Given the description of an element on the screen output the (x, y) to click on. 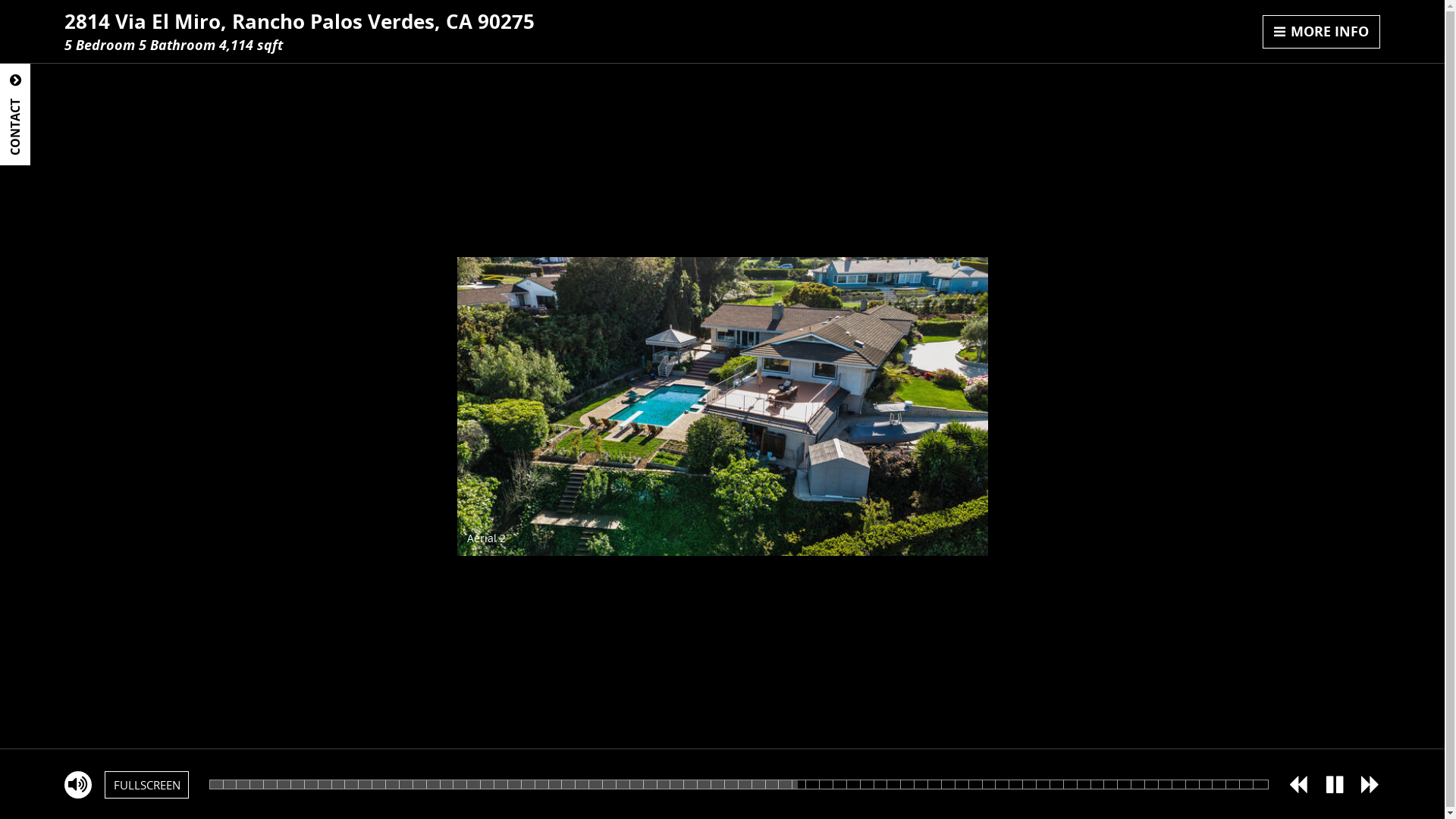
MORE INFO Element type: text (1321, 31)
